Given the description of an element on the screen output the (x, y) to click on. 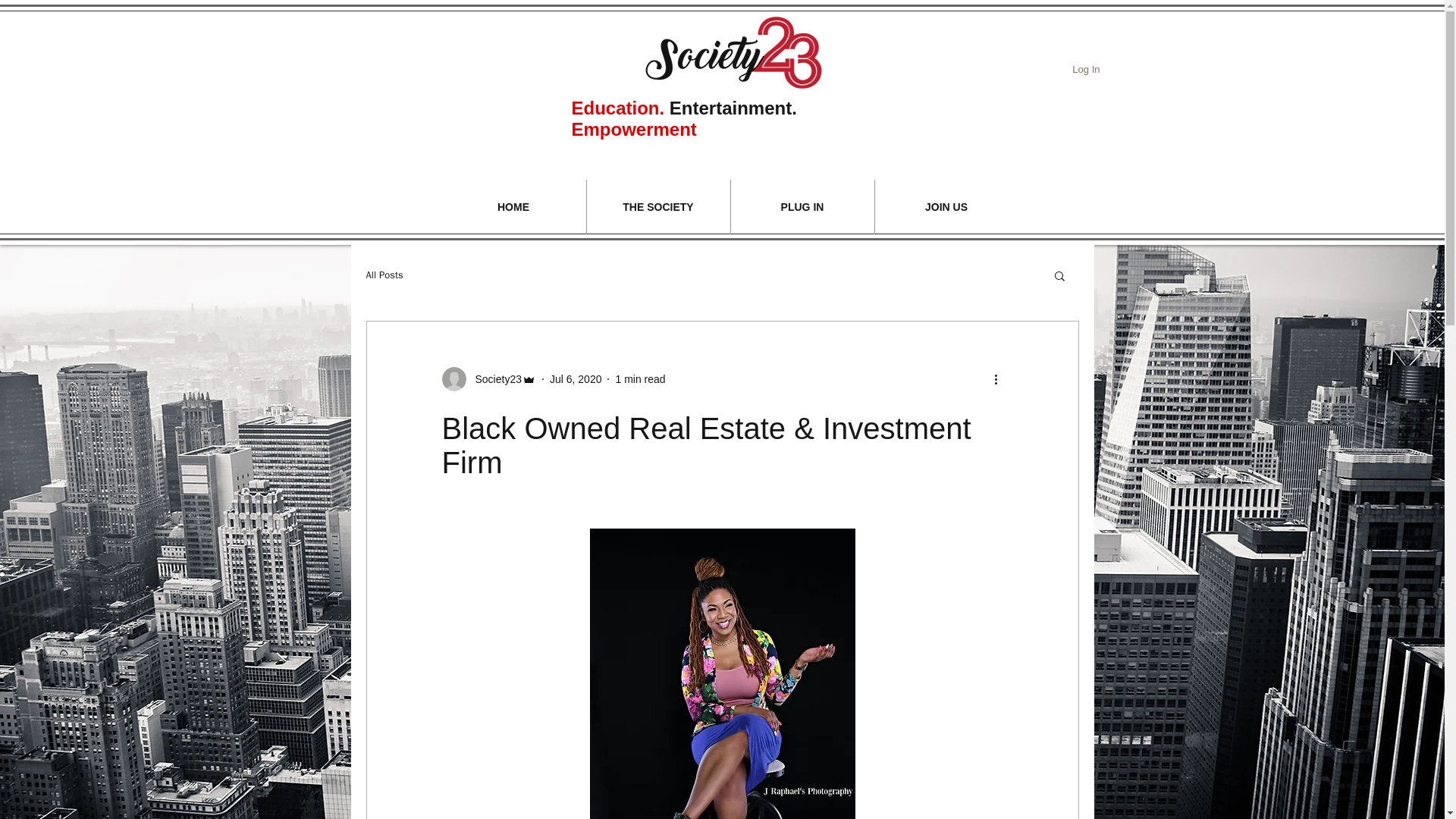
Jul 6, 2020 (576, 378)
Society23 (488, 378)
All Posts (384, 274)
Log In (1085, 69)
HOME (513, 206)
final.png (733, 51)
1 min read (639, 378)
Society23 (493, 379)
JOIN US (946, 206)
